Given the description of an element on the screen output the (x, y) to click on. 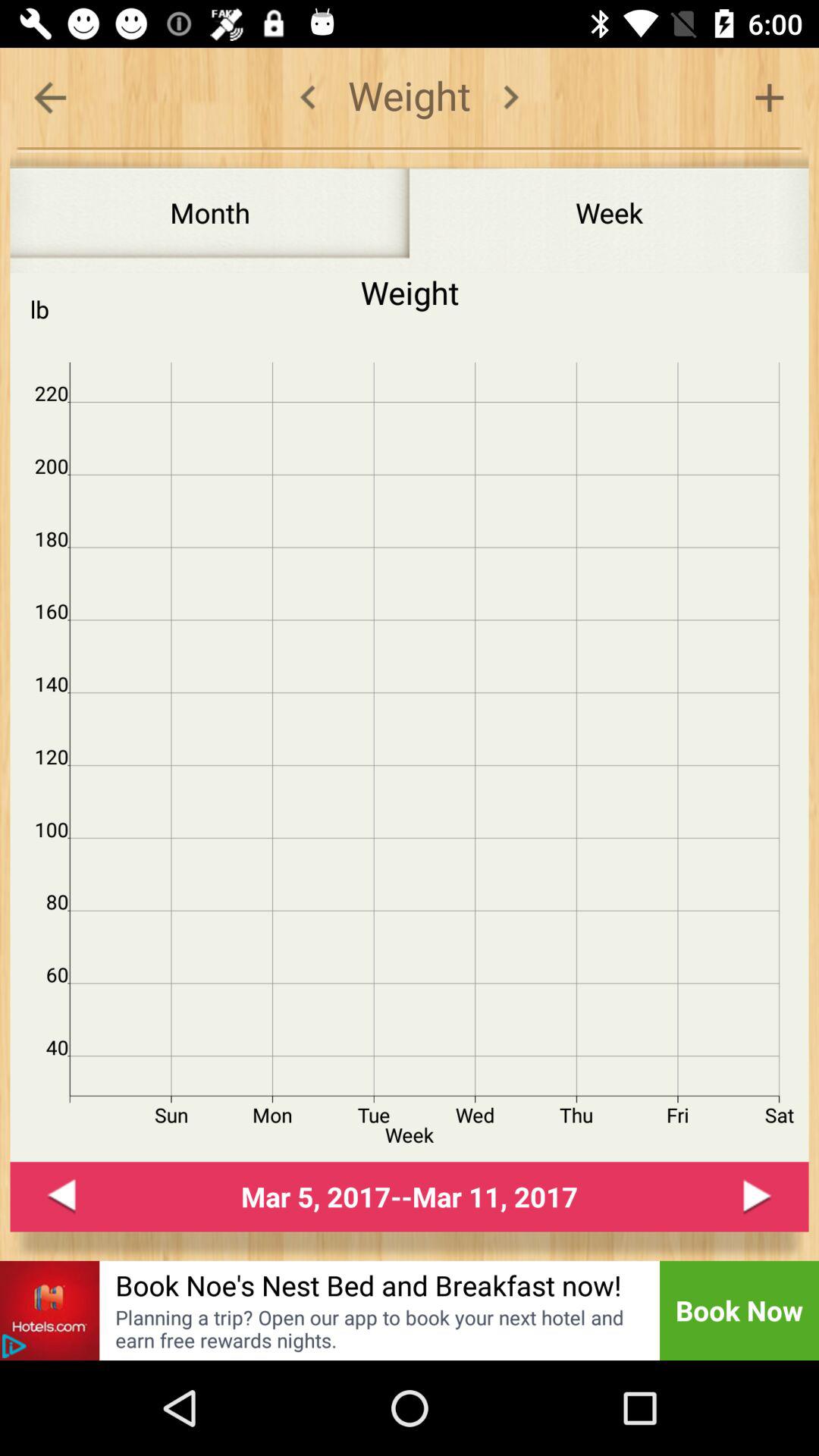
go to the advertisement (14, 1346)
